Given the description of an element on the screen output the (x, y) to click on. 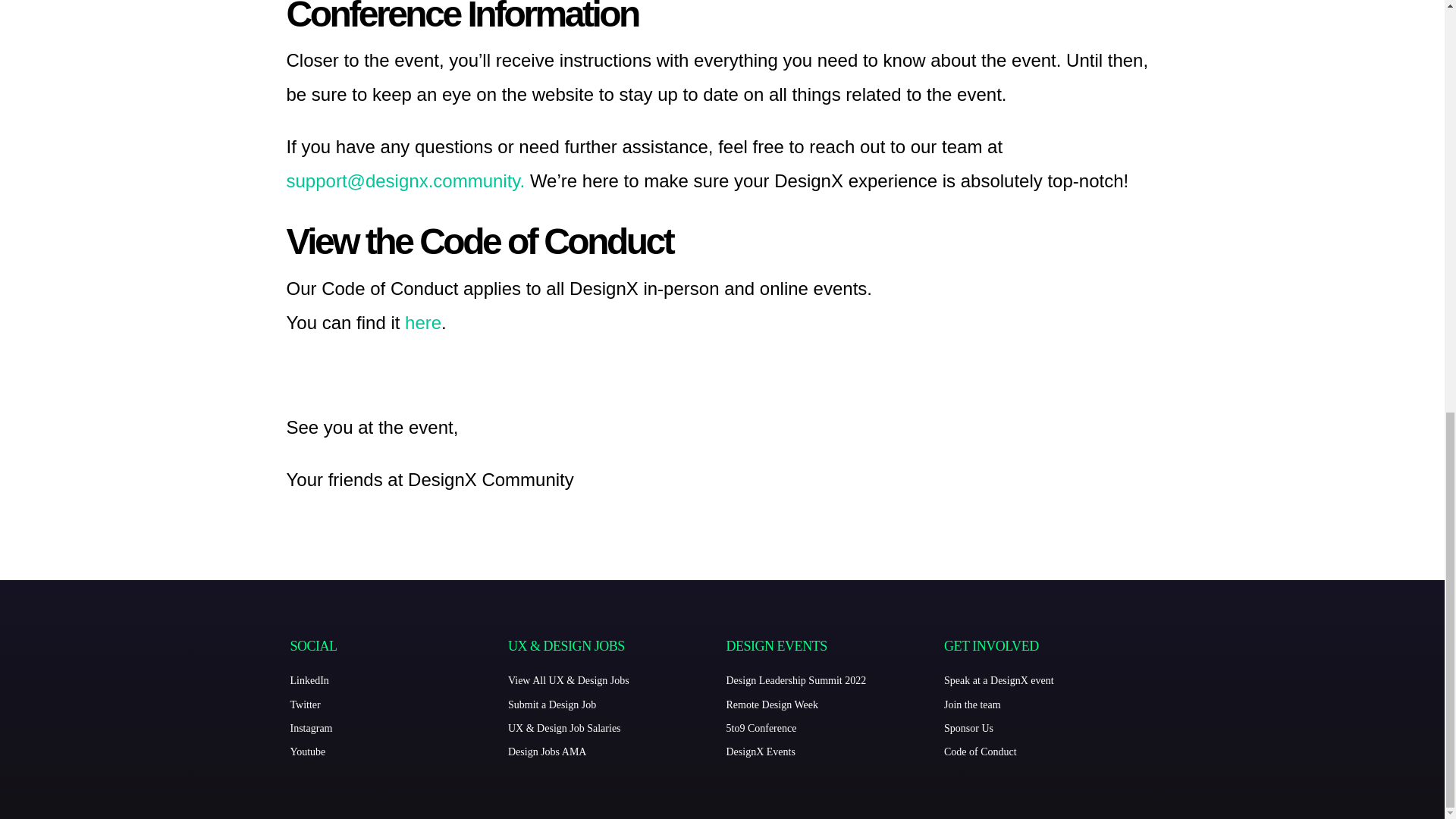
Twitter (394, 704)
LinkedIn (394, 680)
Instagram (394, 728)
Speak at a DesignX event (1048, 680)
5to9 Conference (831, 728)
Design Leadership Summit 2022 (831, 680)
Submit a Design Job (613, 704)
Join the team (1048, 704)
here (422, 322)
Sponsor Us (1048, 728)
Remote Design Week (831, 704)
